Given the description of an element on the screen output the (x, y) to click on. 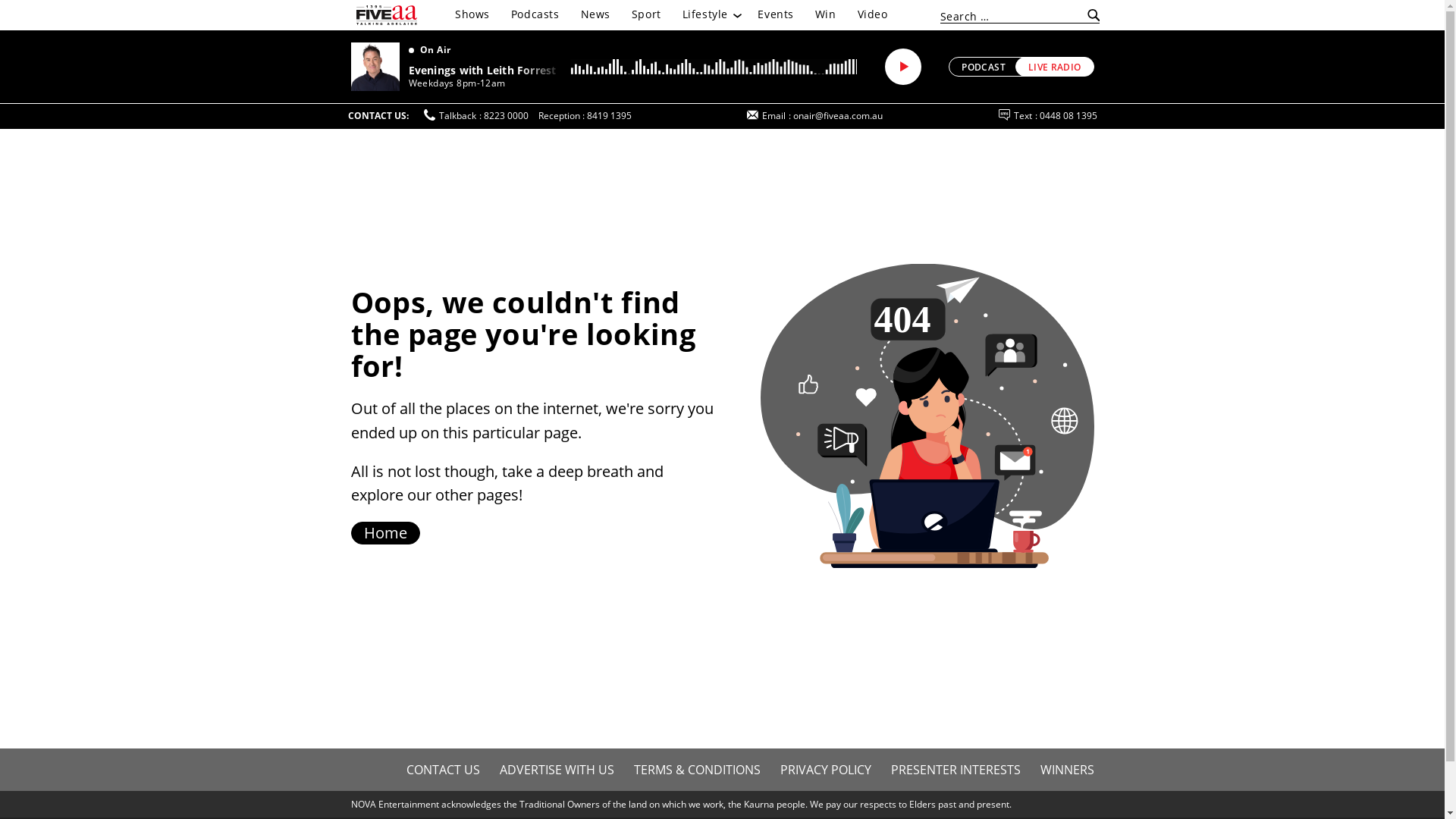
Video Element type: text (872, 14)
News Element type: text (595, 14)
PRESENTER INTERESTS Element type: text (955, 769)
Events Element type: text (774, 14)
ADVERTISE WITH US Element type: text (556, 769)
TERMS & CONDITIONS Element type: text (696, 769)
Shows Element type: text (472, 14)
Play Element type: text (902, 66)
Win Element type: text (825, 14)
CONTACT US Element type: text (442, 769)
FIVEaa Element type: text (386, 15)
PODCAST Element type: text (990, 66)
Sport Element type: text (646, 14)
LIVE RADIO Element type: text (1054, 66)
WINNERS Element type: text (1066, 769)
Lifestyle Element type: text (709, 14)
Search Element type: text (1090, 15)
Podcasts Element type: text (535, 14)
PRIVACY POLICY Element type: text (825, 769)
